Given the description of an element on the screen output the (x, y) to click on. 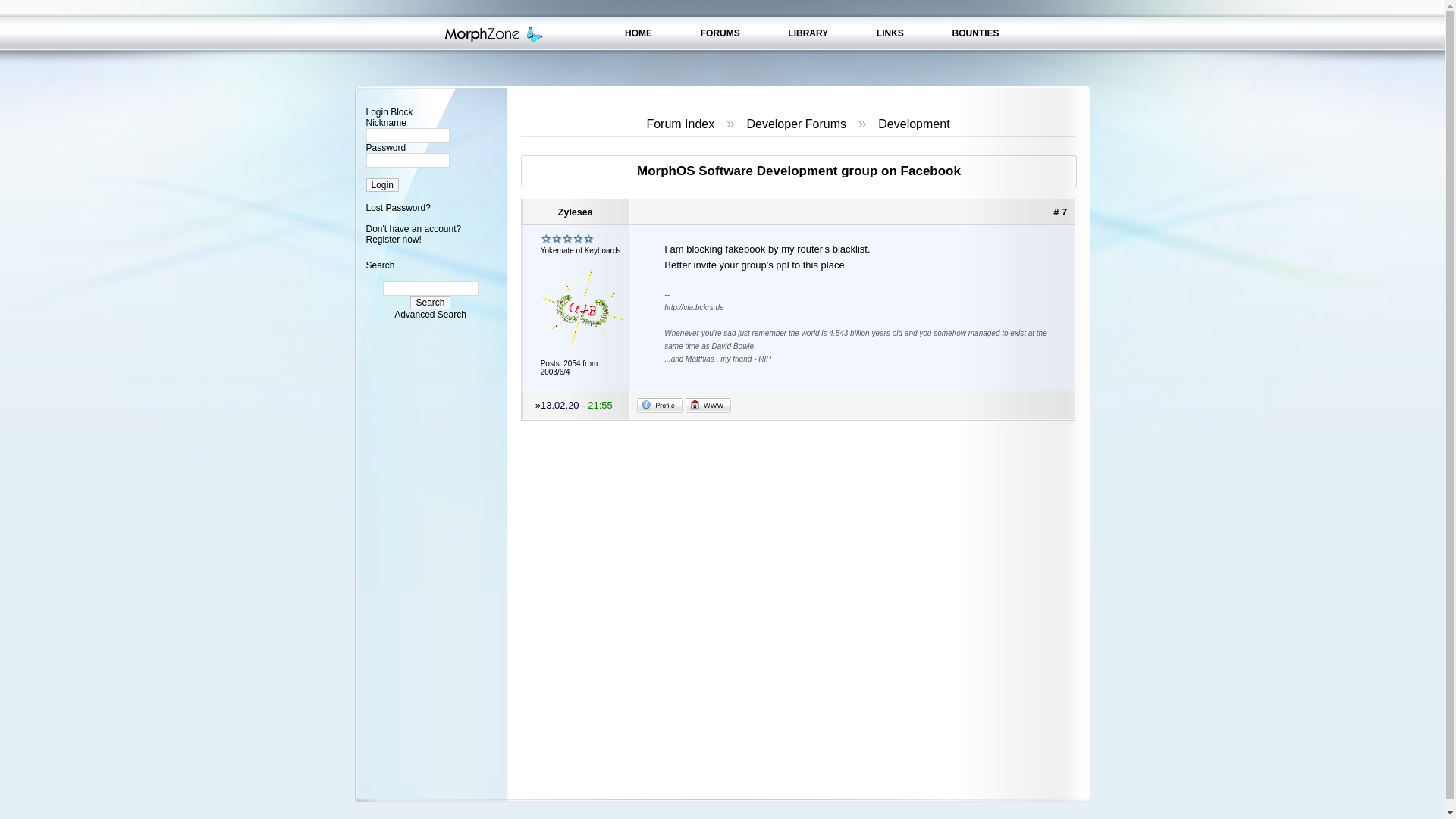
Login (381, 184)
LIBRARY (807, 32)
Lost Password? (397, 207)
Login (381, 184)
Zylesea (575, 212)
Search (429, 302)
MorphOS Software Development group on Facebook (798, 170)
HOME (638, 32)
Register now! (392, 239)
Developer Forums (795, 123)
Yokemate of Keyboards (567, 238)
Advanced Search (429, 314)
BOUNTIES (975, 32)
FORUMS (719, 32)
LINKS (890, 32)
